Given the description of an element on the screen output the (x, y) to click on. 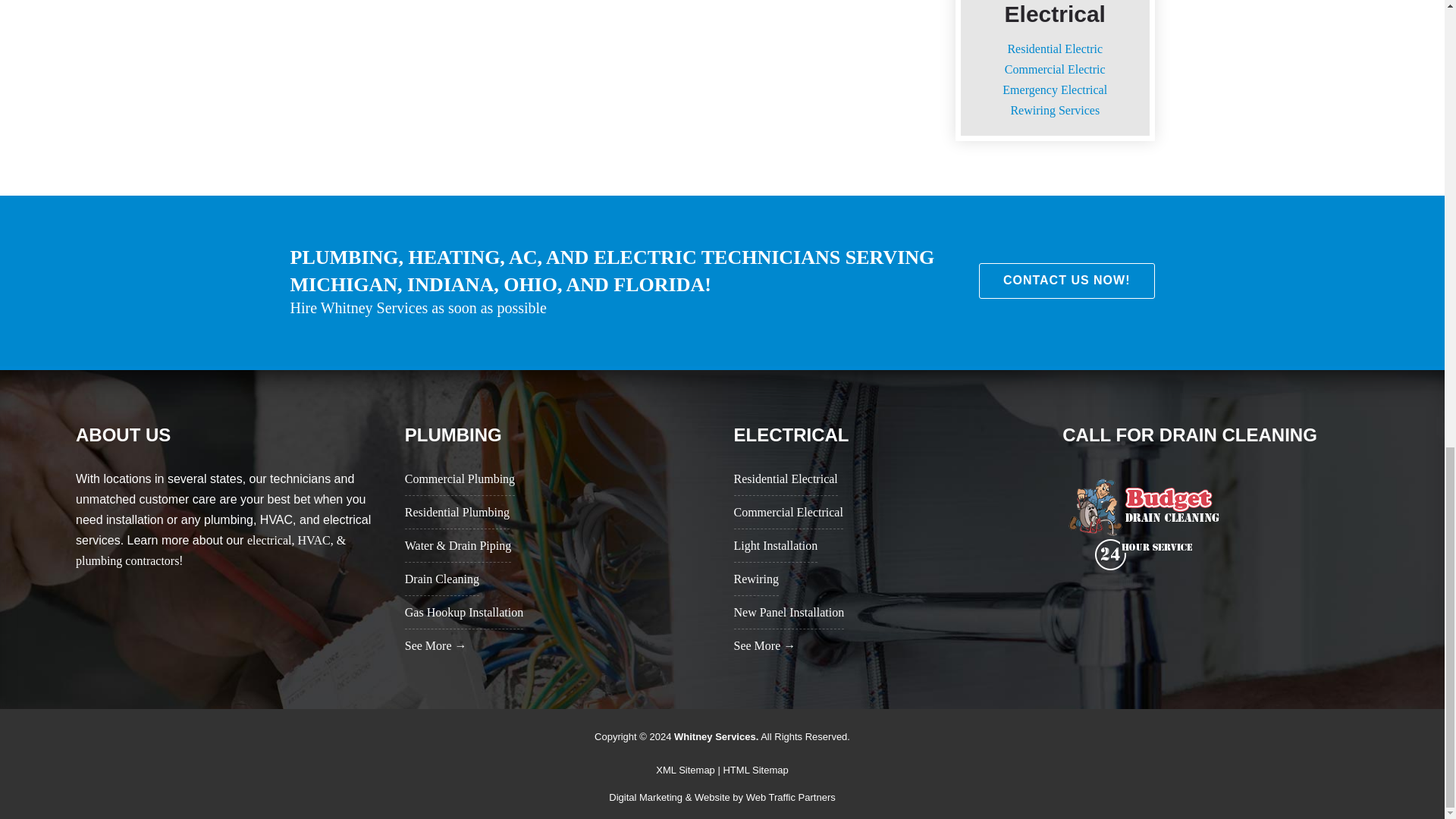
Drain Cleaning Plumbers Michigan (1145, 523)
